Given the description of an element on the screen output the (x, y) to click on. 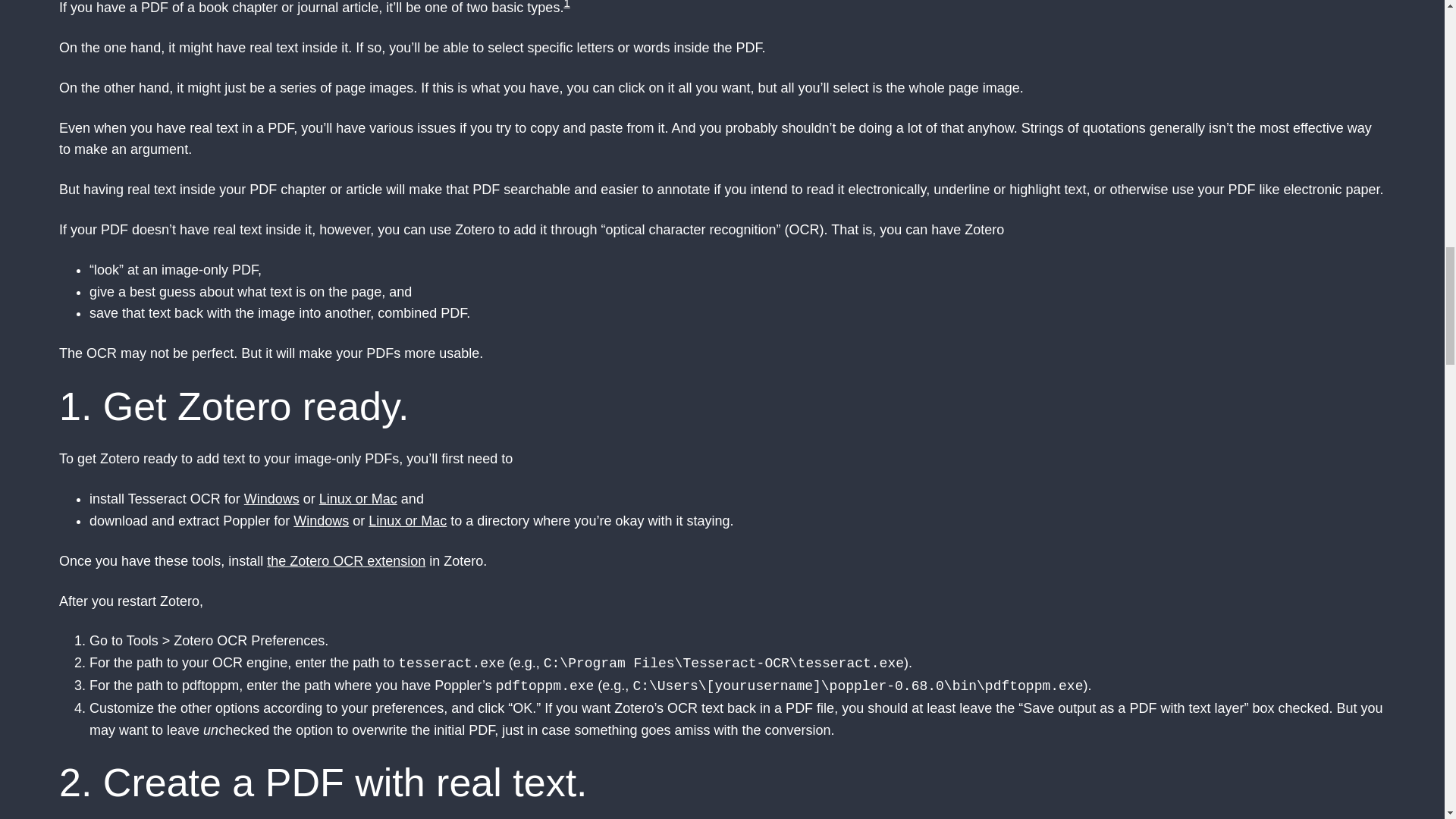
Windows (271, 498)
Linux or Mac (357, 498)
Windows (321, 520)
Linux or Mac (407, 520)
the Zotero OCR extension (345, 560)
